Given the description of an element on the screen output the (x, y) to click on. 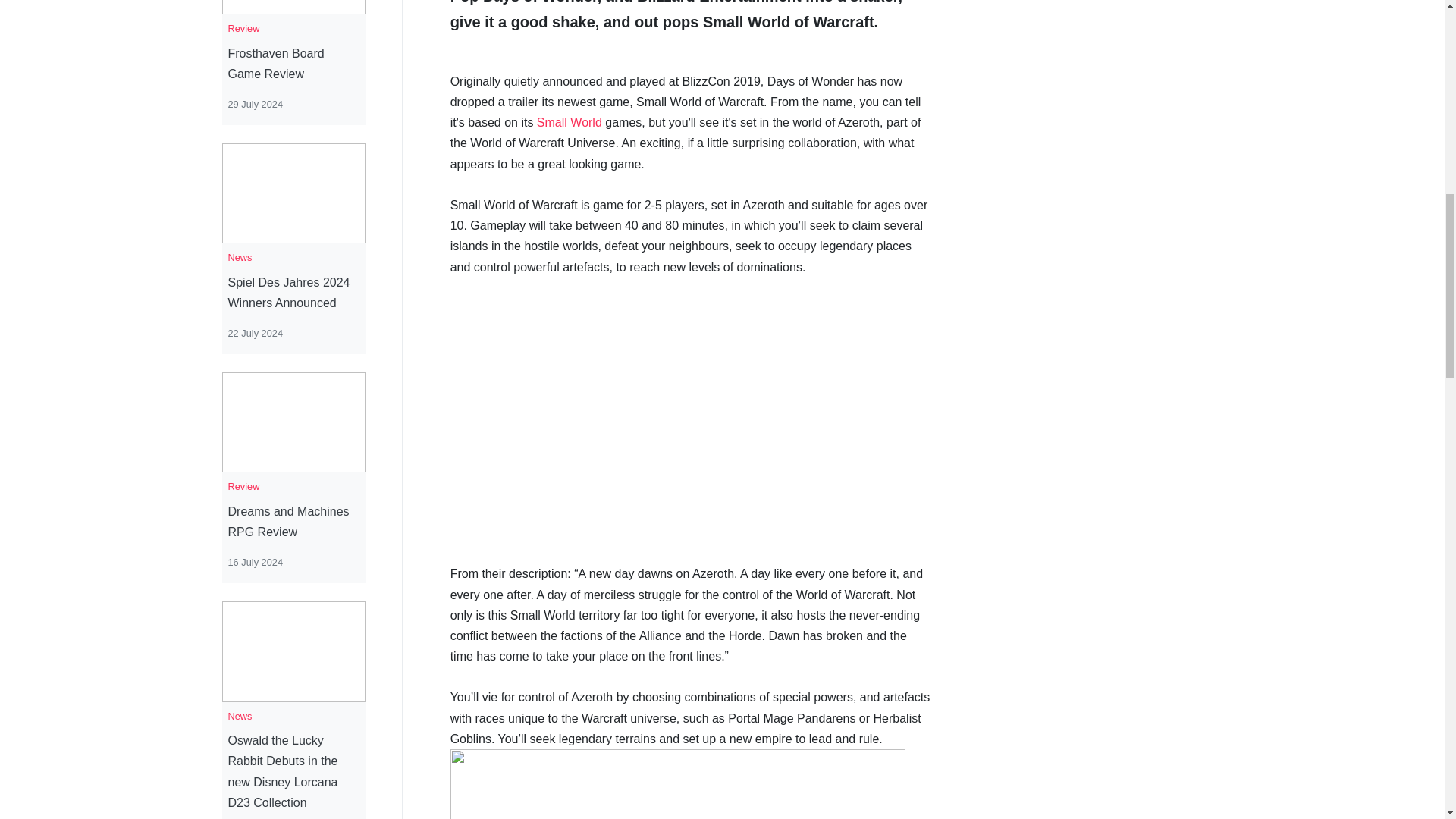
Frosthaven Board Game Review (292, 63)
